Given the description of an element on the screen output the (x, y) to click on. 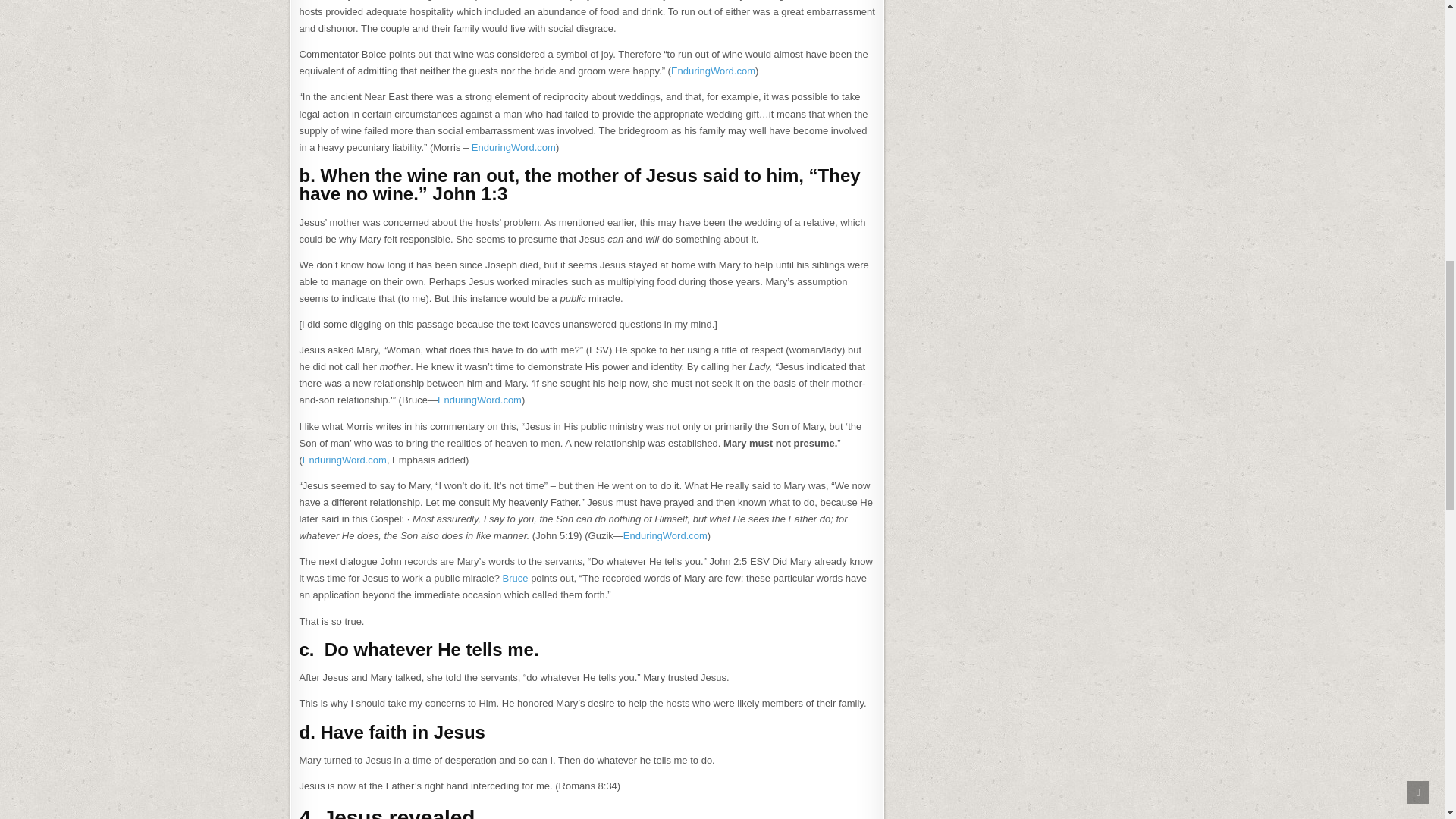
EnduringWord.com (344, 460)
Bruce (515, 577)
EnduringWord.com (479, 399)
EnduringWord.com (665, 535)
EnduringWord.com (513, 147)
EnduringWord.com (713, 70)
